Given the description of an element on the screen output the (x, y) to click on. 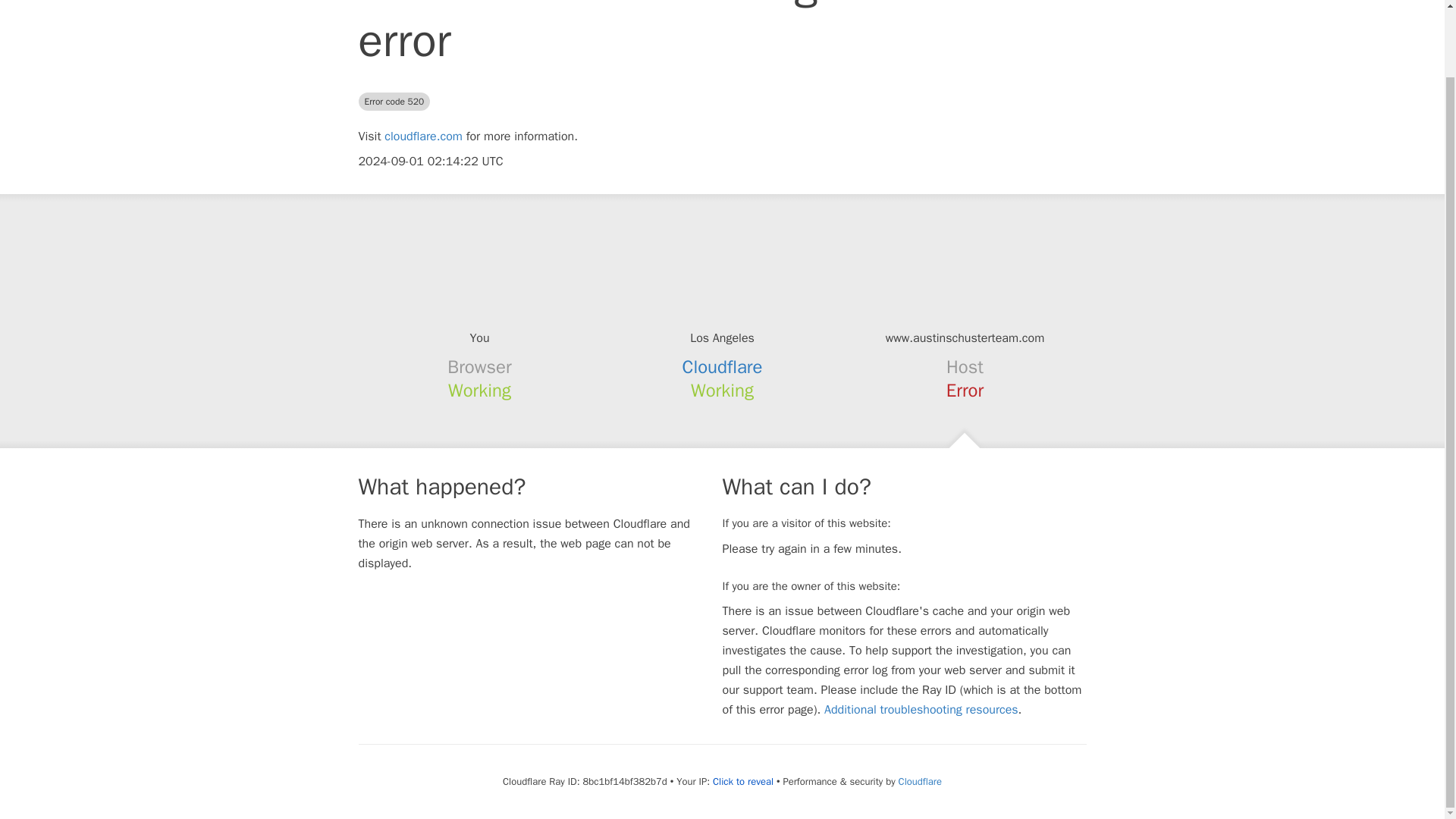
cloudflare.com (423, 136)
Cloudflare (920, 780)
Click to reveal (743, 781)
Cloudflare (722, 366)
Additional troubleshooting resources (920, 709)
